Given the description of an element on the screen output the (x, y) to click on. 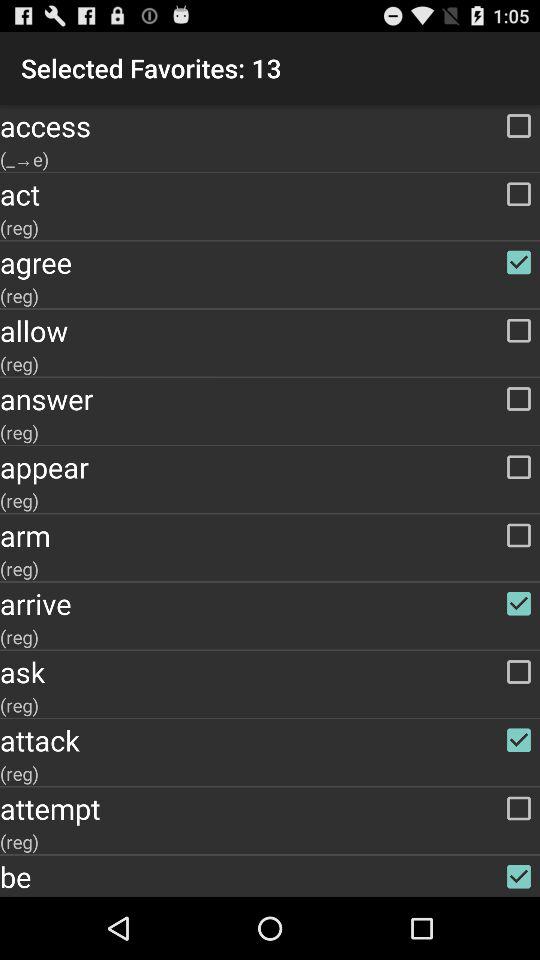
select the icon above the (reg)  item (270, 535)
